Given the description of an element on the screen output the (x, y) to click on. 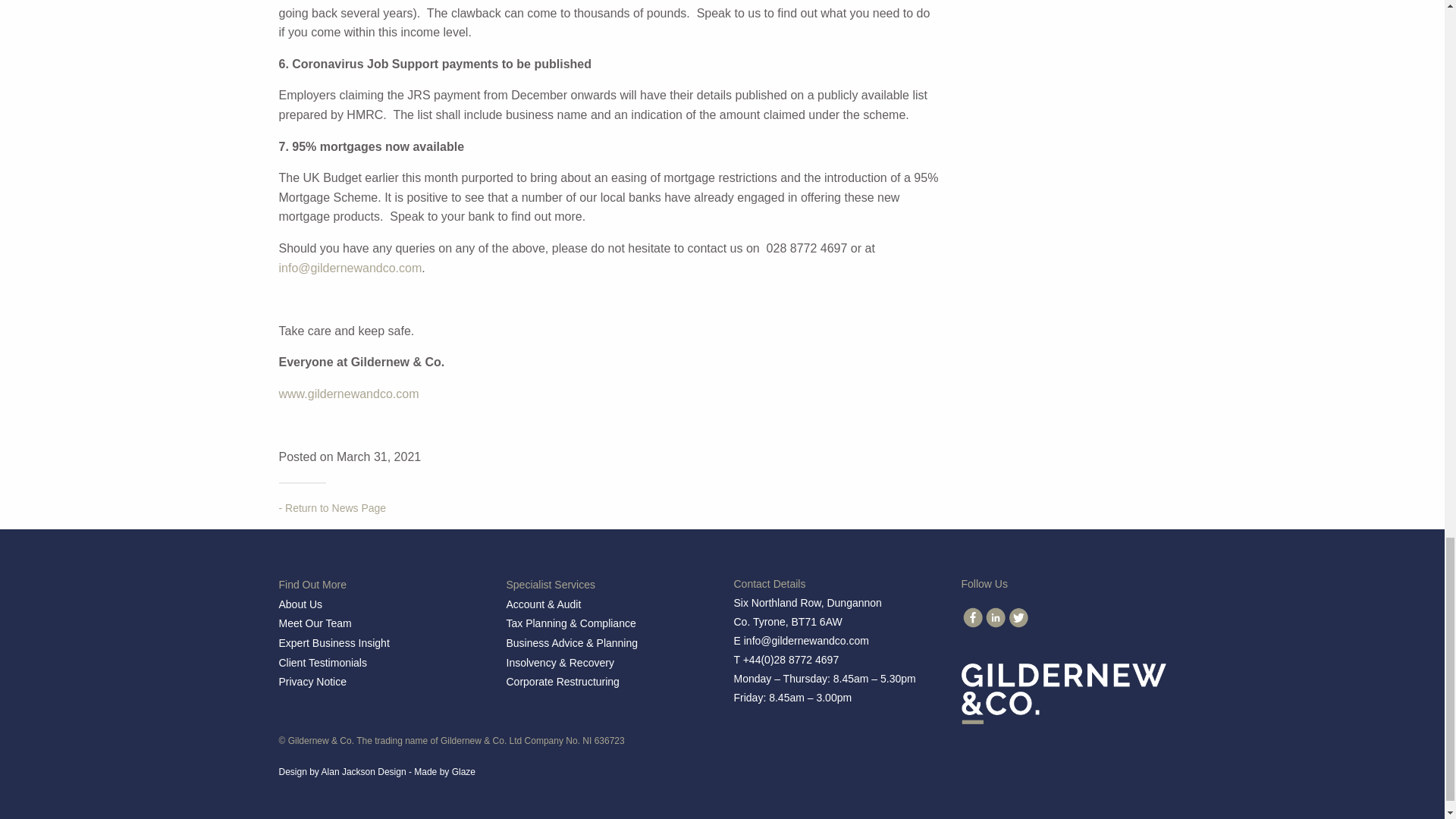
www.gildernewandco.com (349, 393)
- Return to News Page (333, 508)
